Given the description of an element on the screen output the (x, y) to click on. 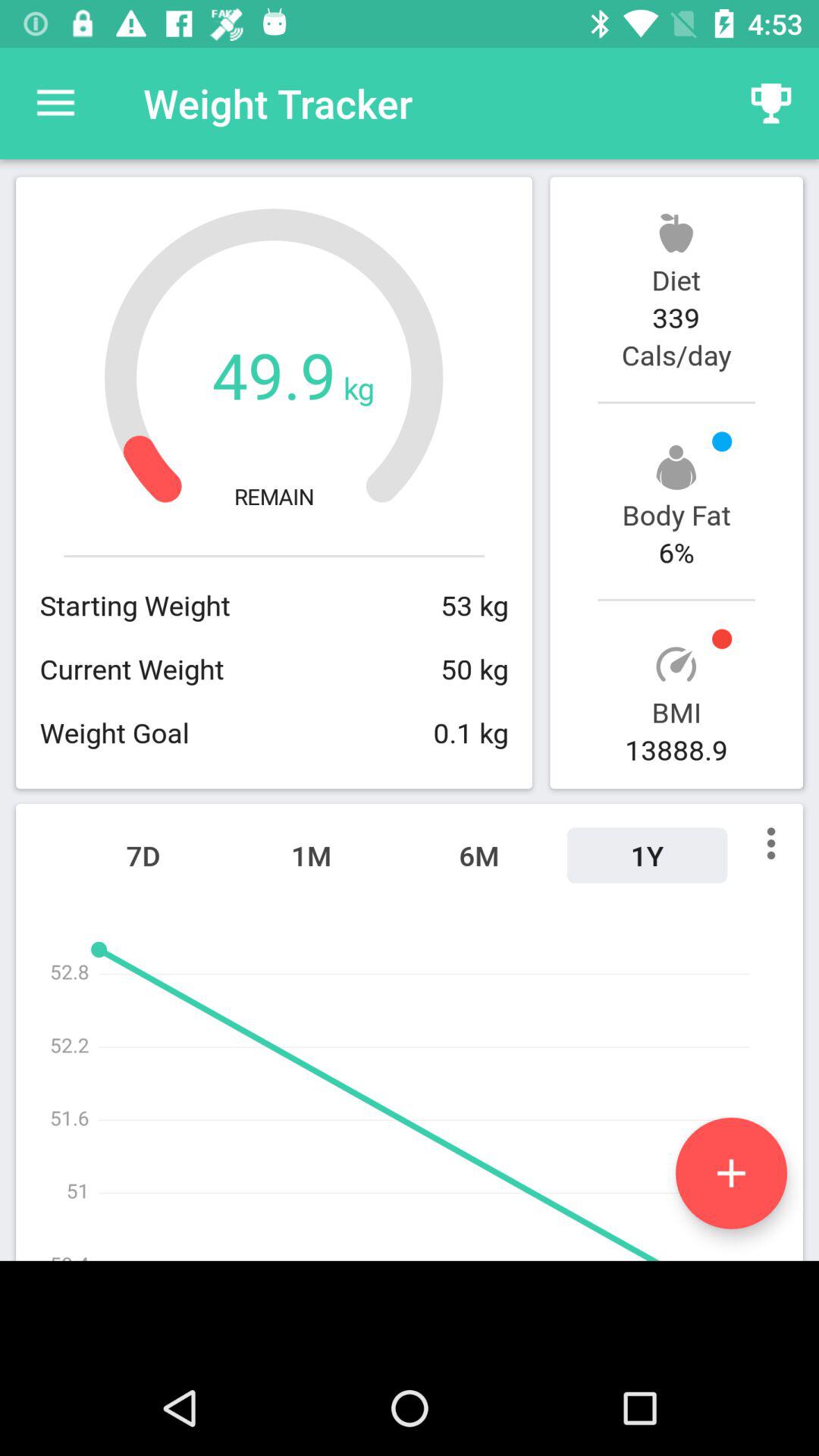
turn on the item below 13888.9 icon (647, 855)
